Given the description of an element on the screen output the (x, y) to click on. 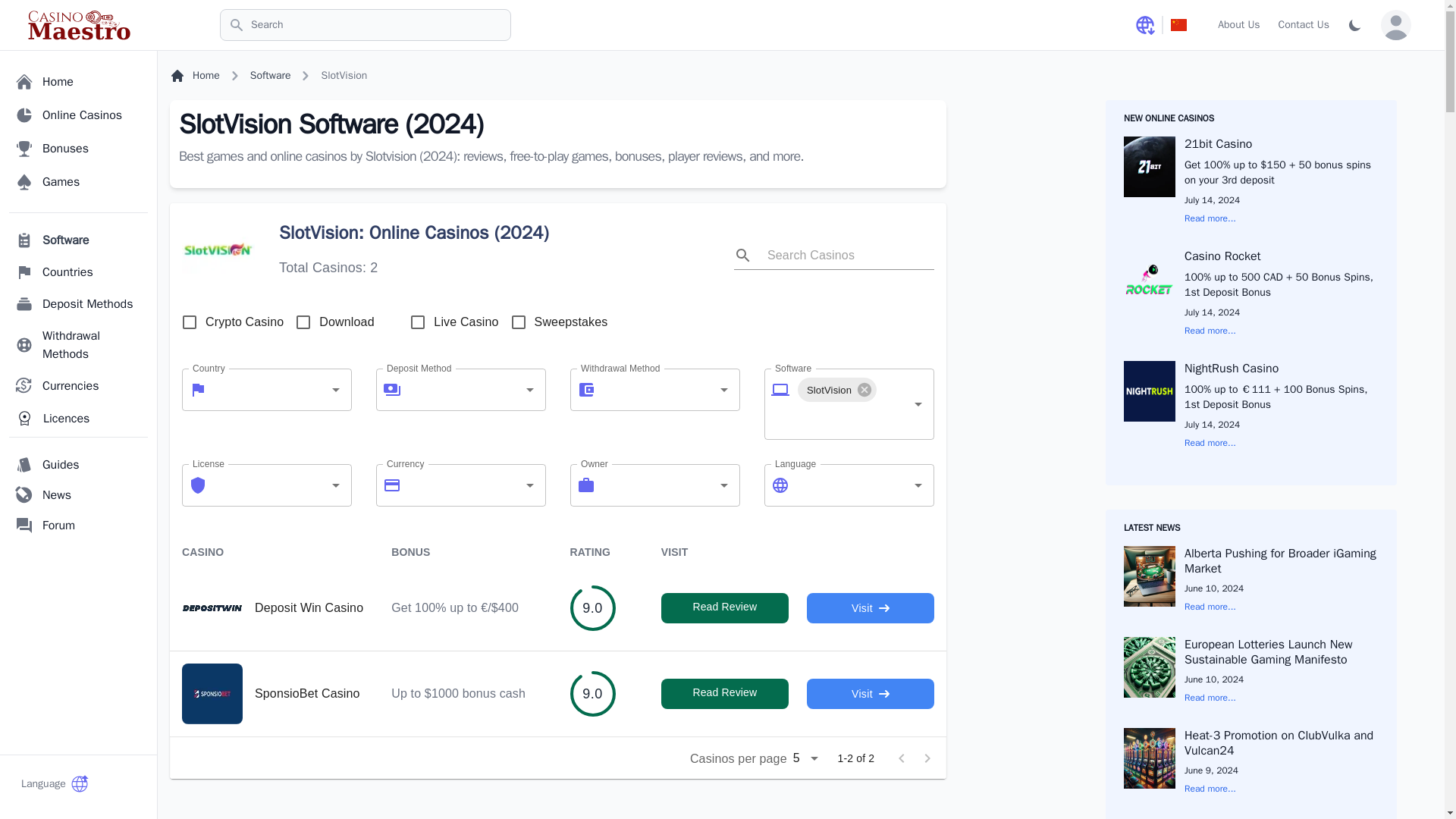
Open (335, 389)
Home (78, 81)
About Us (1238, 24)
Games (78, 182)
Software (78, 240)
Currencies (78, 386)
Open (724, 485)
Withdrawal Methods (78, 345)
Open (917, 403)
Licences (78, 418)
Countries (78, 272)
Bonuses (78, 148)
News (78, 494)
Open (529, 485)
Open (529, 389)
